Given the description of an element on the screen output the (x, y) to click on. 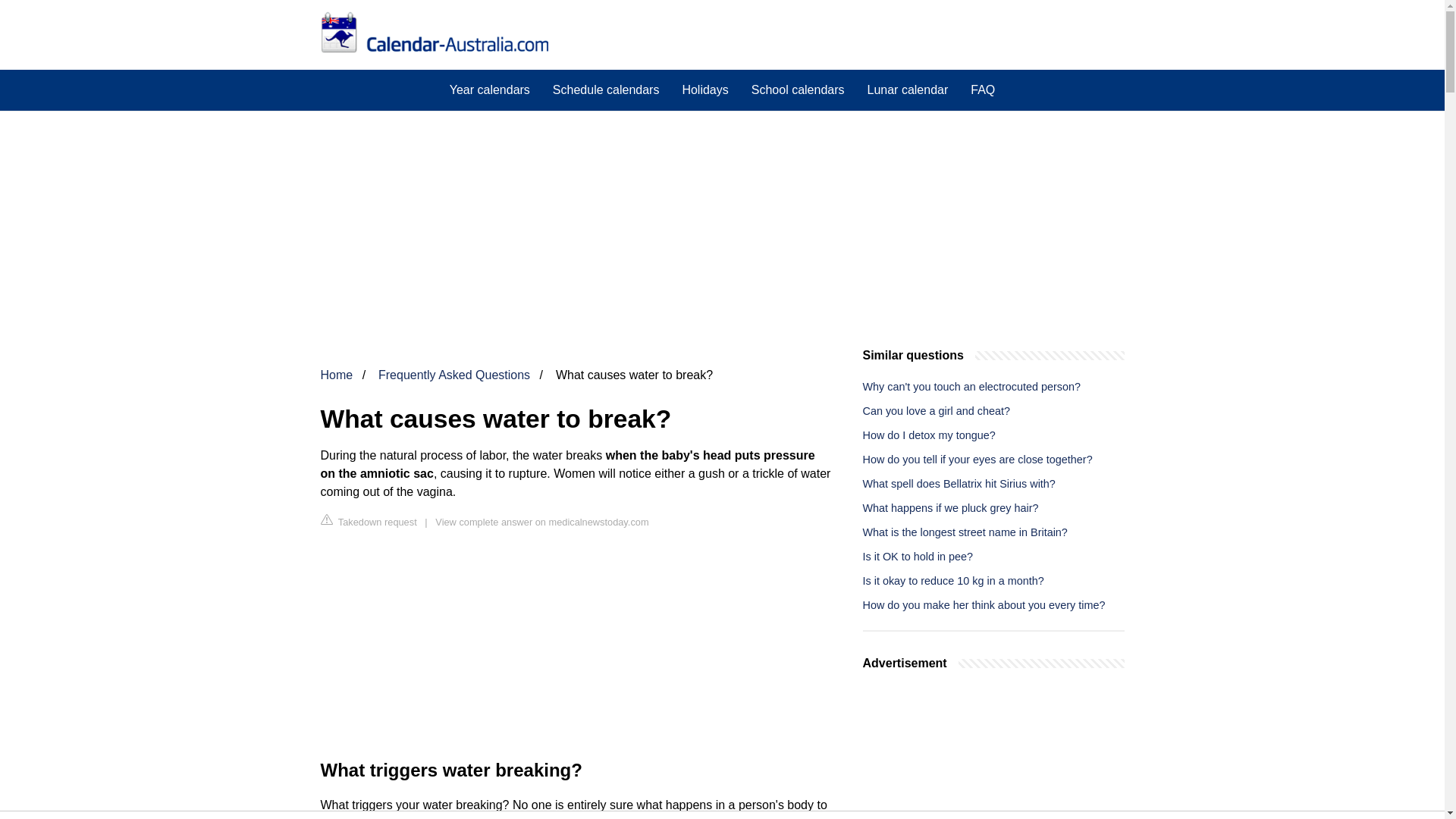
School calendars (797, 89)
Holidays (704, 89)
Home (336, 374)
View complete answer on medicalnewstoday.com (541, 521)
Frequently Asked Questions (453, 374)
Schedule calendars (606, 89)
Lunar calendar (907, 89)
FAQ (982, 89)
Year calendars (489, 89)
Takedown request (368, 521)
